Given the description of an element on the screen output the (x, y) to click on. 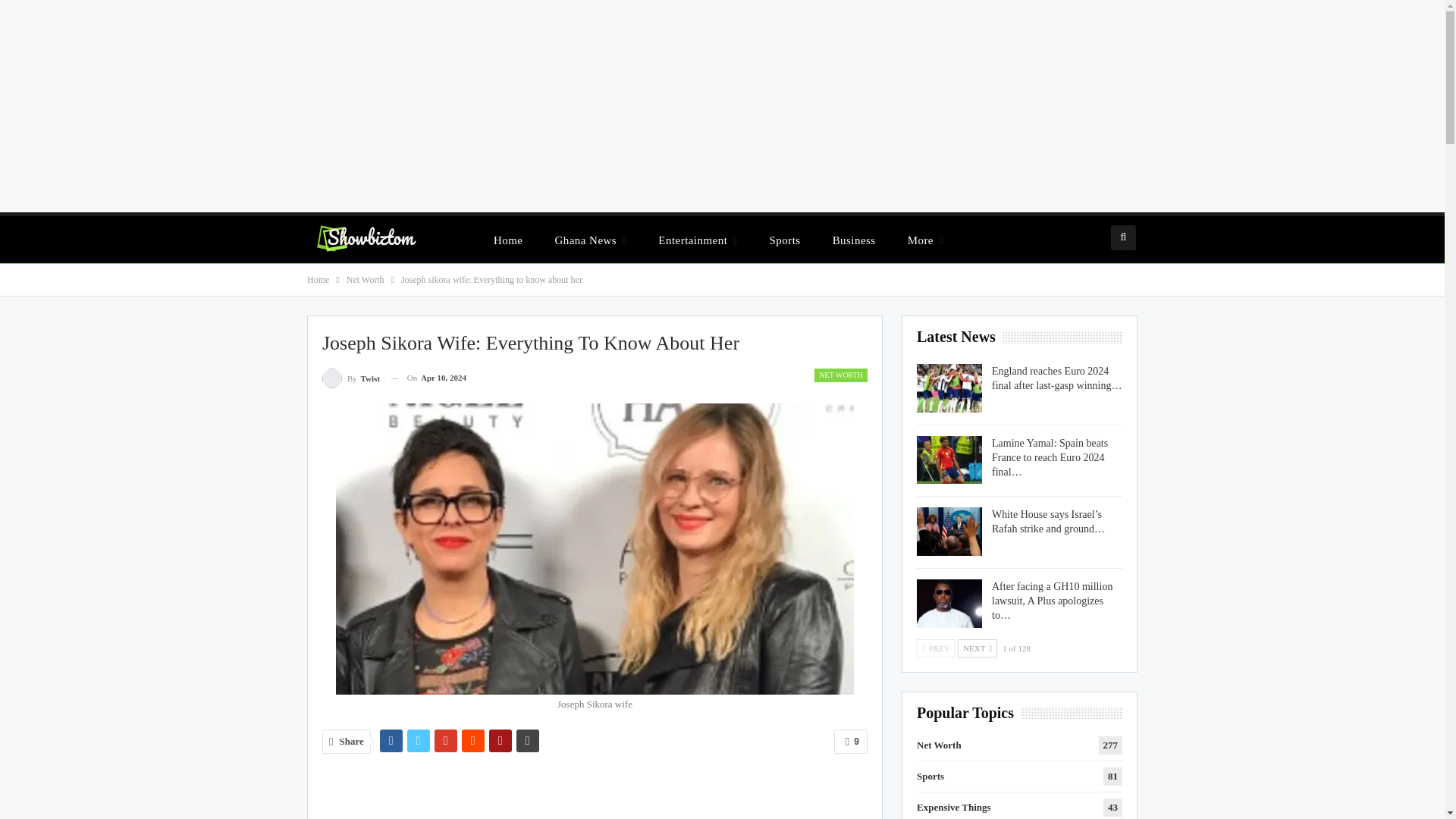
More (925, 239)
NET WORTH (840, 375)
Sports (784, 239)
Advertisement (594, 793)
Home (508, 239)
Ghana News (590, 239)
Net Worth (365, 279)
By Twist (350, 377)
Business (854, 239)
Home (318, 279)
Browse Author Articles (350, 377)
Entertainment (697, 239)
